Given the description of an element on the screen output the (x, y) to click on. 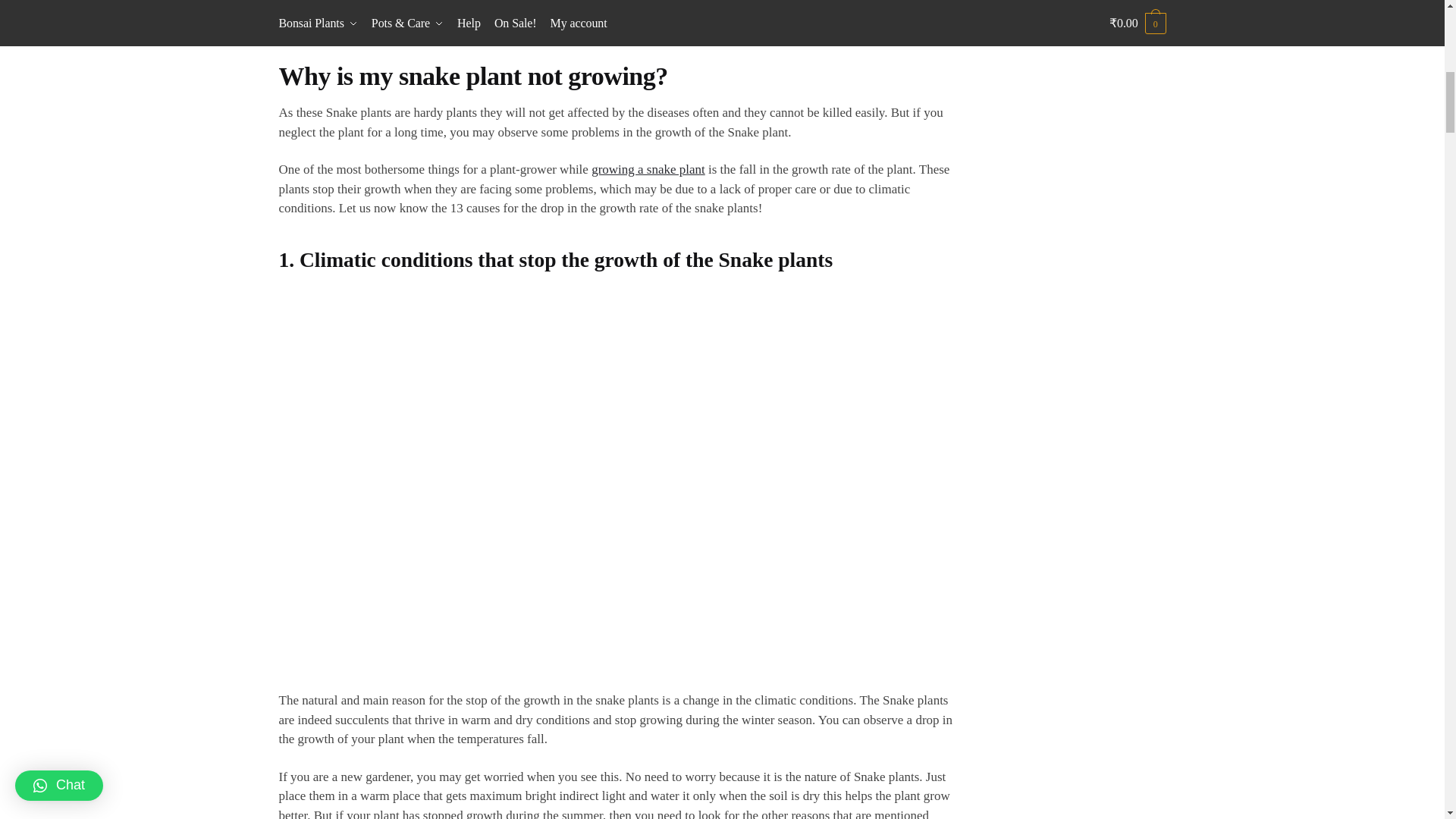
growing a snake plant (647, 169)
